Given the description of an element on the screen output the (x, y) to click on. 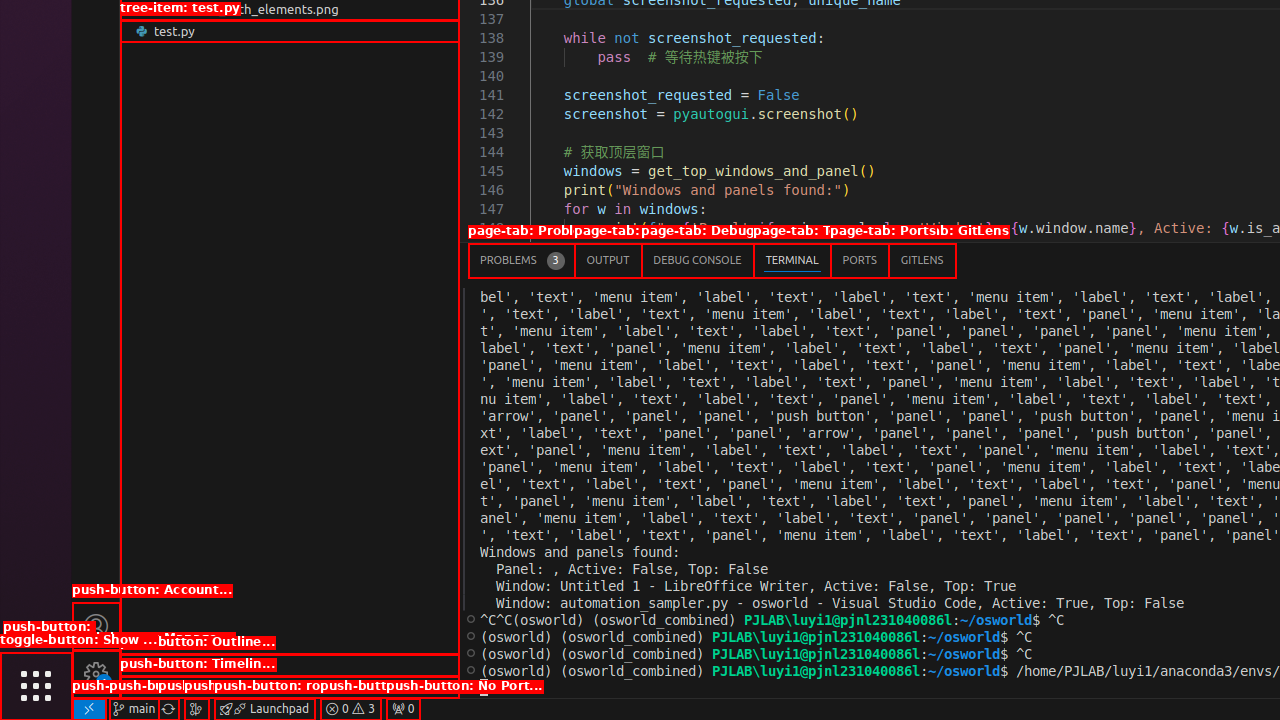
test.py Element type: tree-item (289, 31)
OSWorld (Git) - main, Checkout Branch/Tag... Element type: push-button (134, 709)
Problems (Ctrl+Shift+M) - Total 3 Problems Element type: page-tab (521, 260)
Ports Element type: page-tab (859, 260)
OSWorld (Git) - Synchronize Changes Element type: push-button (168, 709)
